Given the description of an element on the screen output the (x, y) to click on. 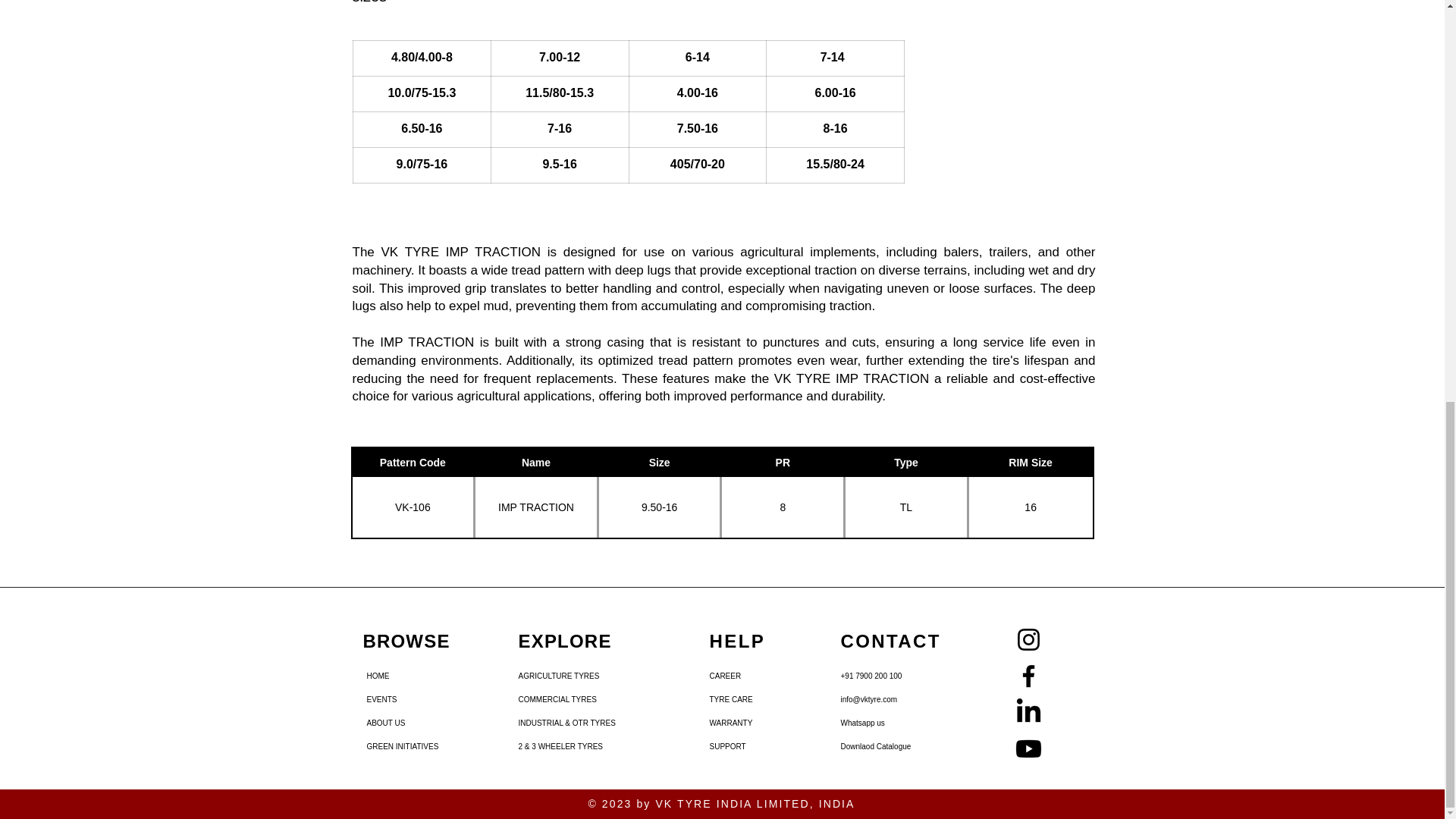
WARRANTY (749, 722)
COMMERCIAL TYRES (558, 699)
ABOUT US (406, 722)
EVENTS (406, 699)
SUPPORT (749, 746)
TYRE CARE (749, 699)
HOME (406, 675)
Whatsapp us (894, 722)
CAREER (749, 675)
GREEN INITIATIVES (406, 746)
EXPLORE (564, 640)
BROWSE (405, 640)
AGRICULTURE TYRES (558, 675)
Downlaod Catalogue (894, 746)
